Given the description of an element on the screen output the (x, y) to click on. 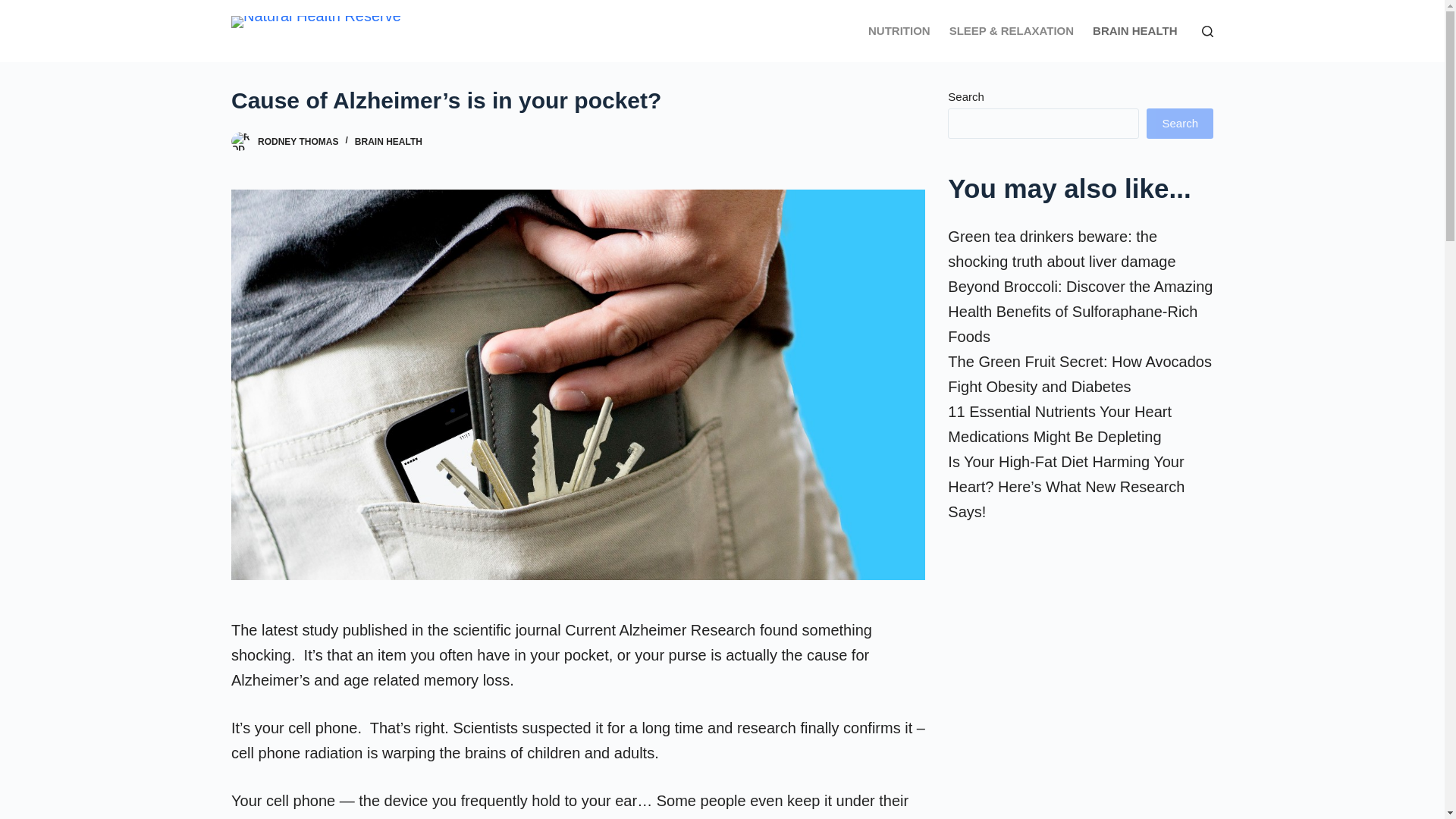
RODNEY THOMAS (297, 141)
BRAIN HEALTH (388, 141)
Posts by Rodney Thomas (297, 141)
BRAIN HEALTH (1134, 31)
Search (1179, 123)
Skip to content (15, 7)
NUTRITION (899, 31)
